Given the description of an element on the screen output the (x, y) to click on. 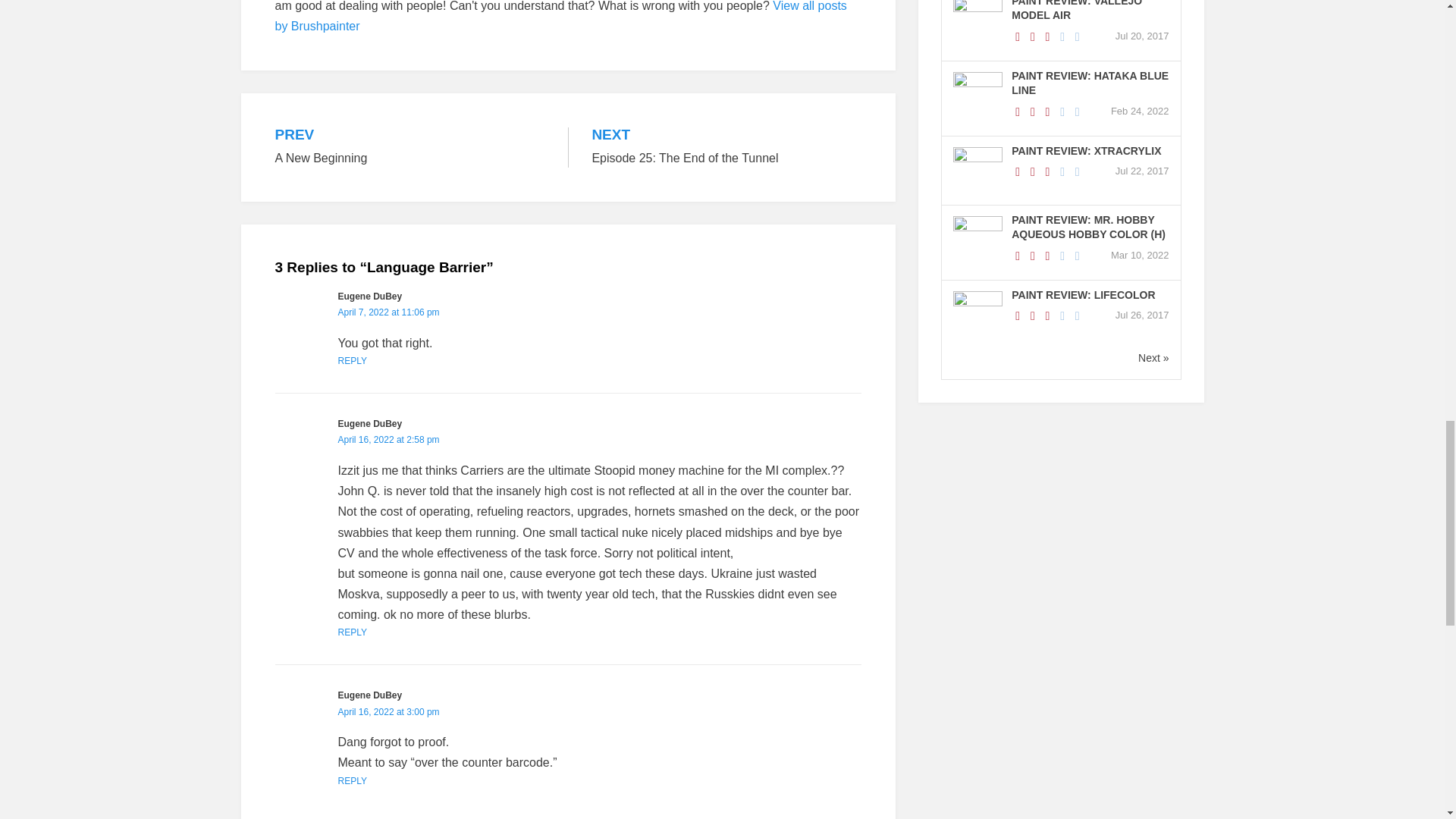
View all posts by Brushpainter (560, 16)
April 7, 2022 at 11:06 pm (726, 147)
REPLY (388, 312)
April 16, 2022 at 2:58 pm (409, 147)
April 16, 2022 at 3:00 pm (351, 780)
REPLY (388, 439)
REPLY (388, 711)
